Given the description of an element on the screen output the (x, y) to click on. 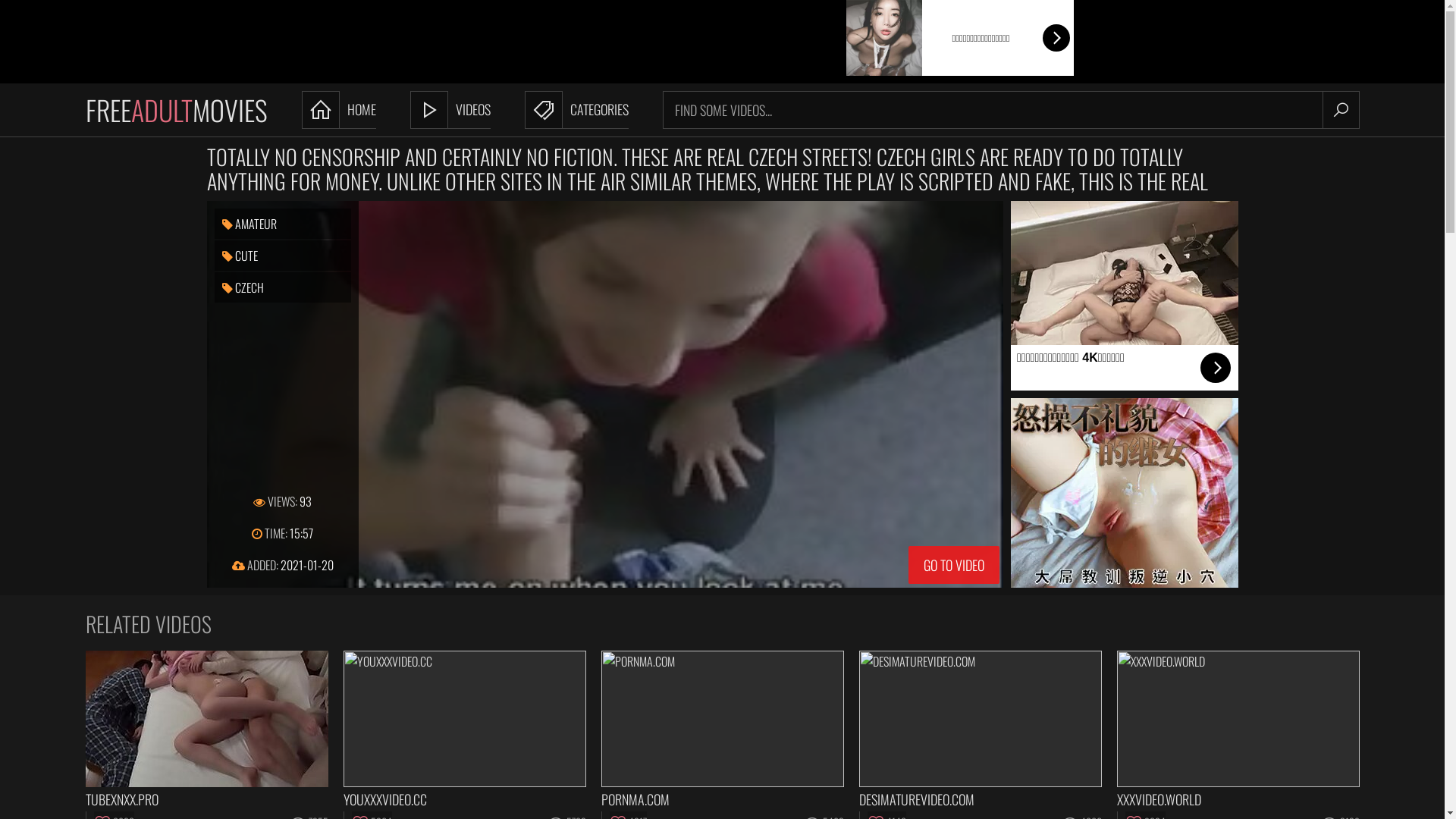
PORNMA.COM Element type: text (721, 728)
AMATEUR Element type: text (281, 223)
Find Element type: hover (1340, 109)
FREEADULTMOVIES Element type: text (175, 109)
Search X Videos Element type: hover (994, 109)
XXXVIDEO.WORLD Element type: text (1237, 728)
CUTE Element type: text (281, 255)
YOUXXXVIDEO.CC Element type: text (463, 728)
DESIMATUREVIDEO.COM Element type: text (979, 728)
VIDEOS Element type: text (449, 109)
CATEGORIES Element type: text (576, 109)
HOME Element type: text (338, 109)
TUBEXNXX.PRO Element type: text (205, 728)
CZECH Element type: text (281, 287)
